Given the description of an element on the screen output the (x, y) to click on. 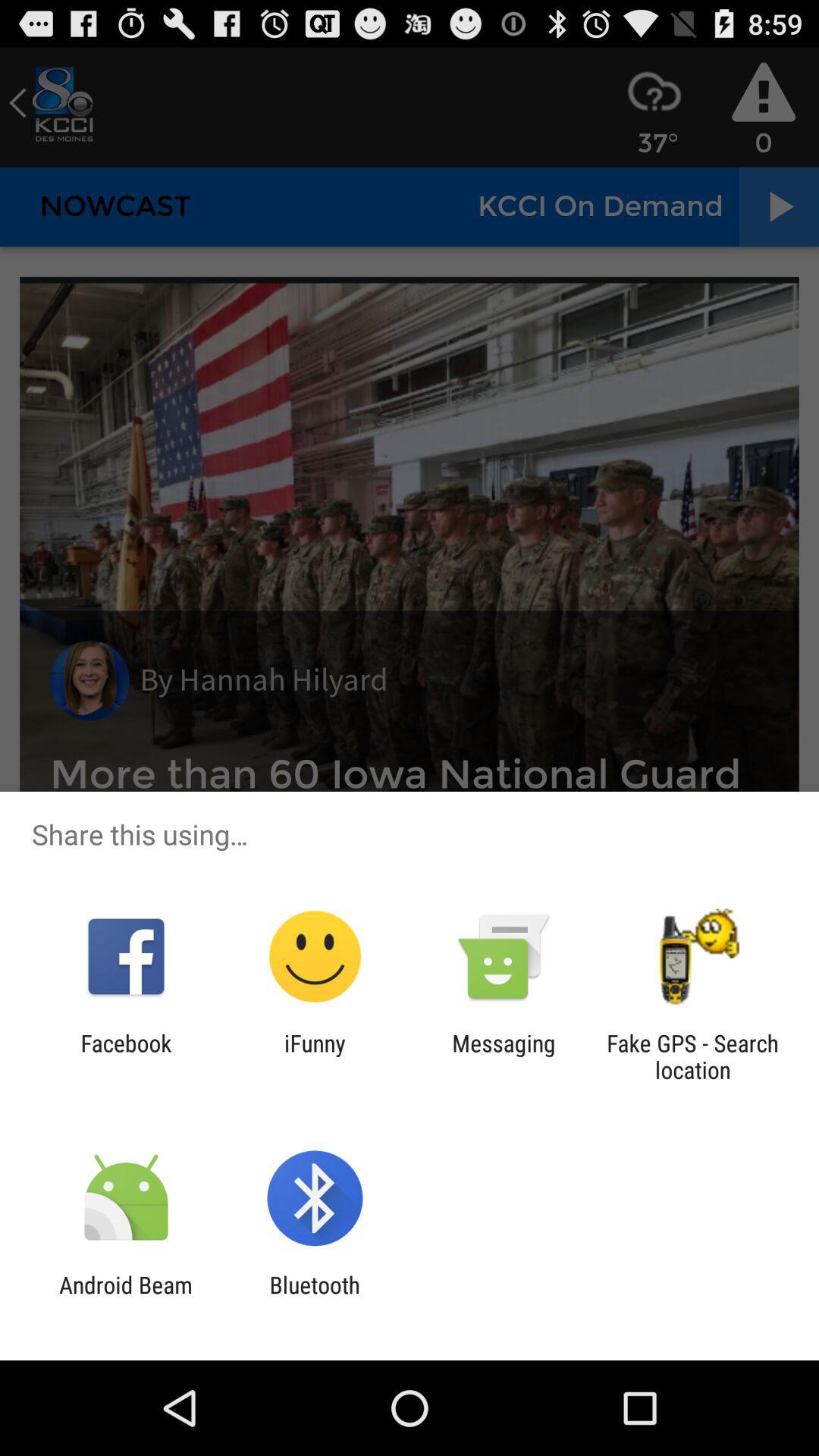
flip to fake gps search (692, 1056)
